Given the description of an element on the screen output the (x, y) to click on. 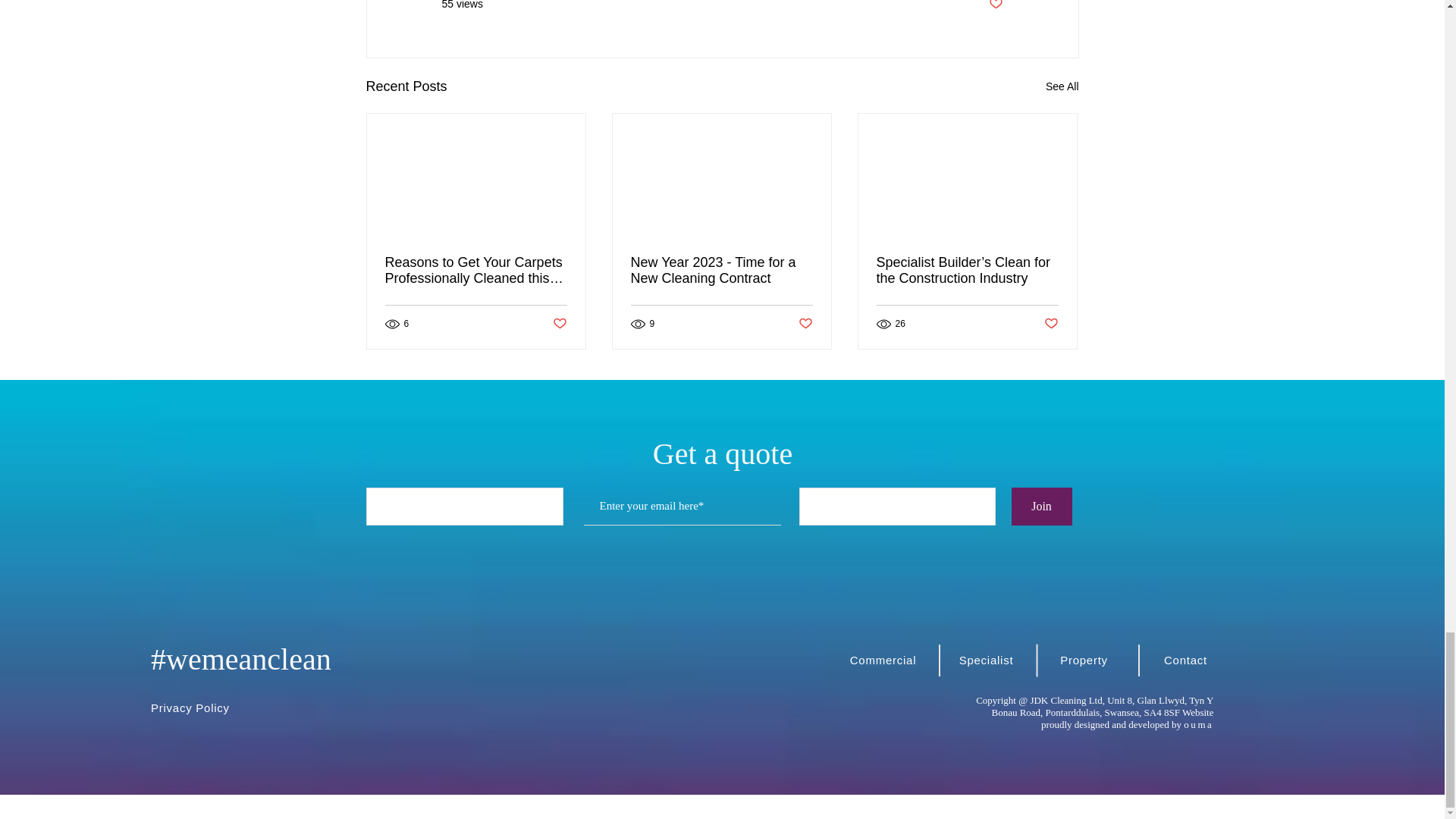
Post not marked as liked (804, 324)
Post not marked as liked (558, 324)
See All (1061, 86)
Post not marked as liked (995, 6)
Join (1041, 506)
Property (1085, 659)
Commercial (884, 659)
Specialist (986, 659)
ouma (1197, 724)
Contact (1187, 659)
Post not marked as liked (1050, 324)
Privacy Policy (196, 707)
New Year 2023 - Time for a New Cleaning Contract (721, 270)
